Given the description of an element on the screen output the (x, y) to click on. 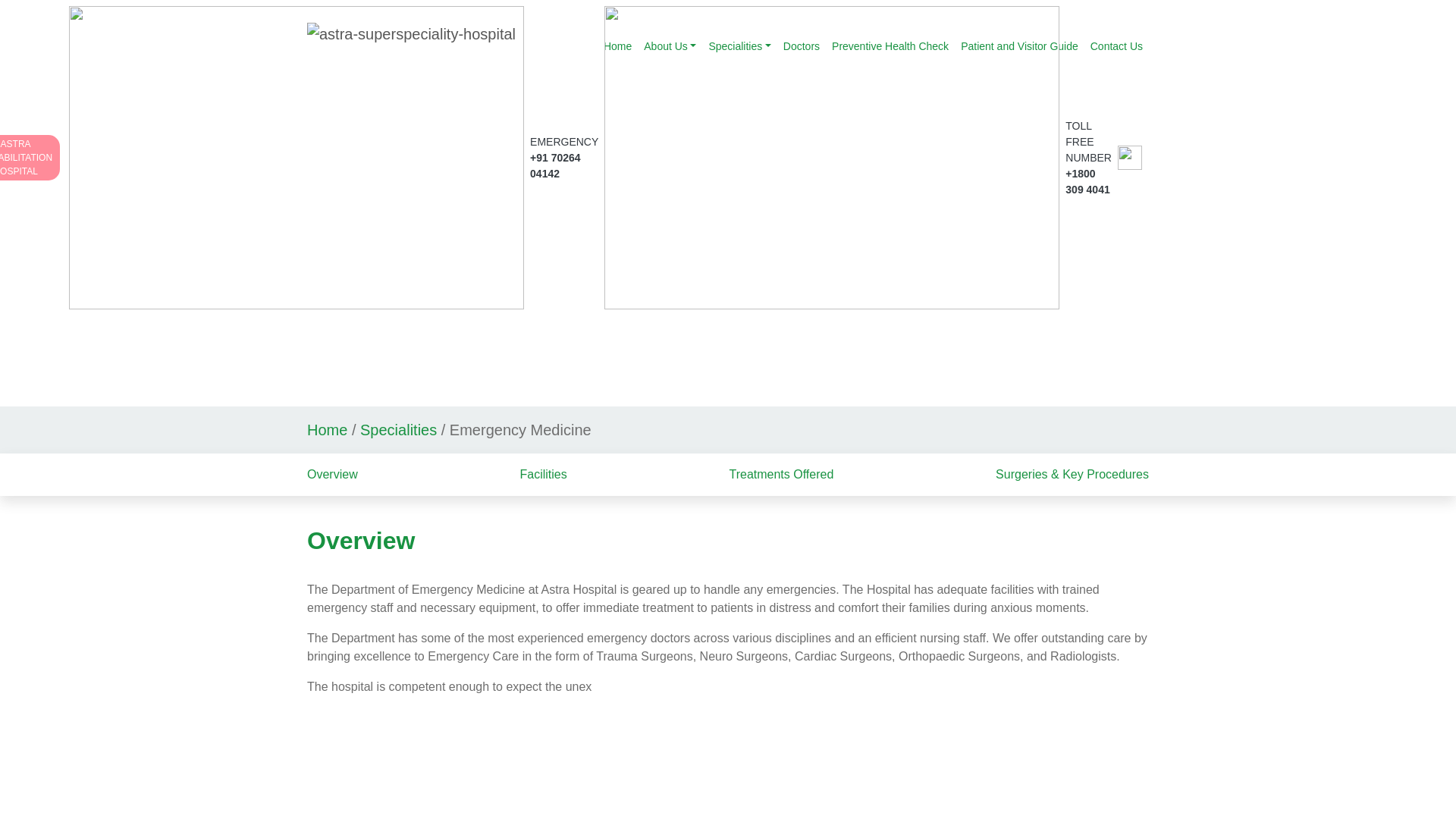
Contact Us (29, 157)
Specialities (1116, 46)
Home (738, 46)
About Us (616, 46)
Patient and Visitor Guide (669, 46)
Doctors (1019, 46)
Preventive Health Check (801, 46)
